Given the description of an element on the screen output the (x, y) to click on. 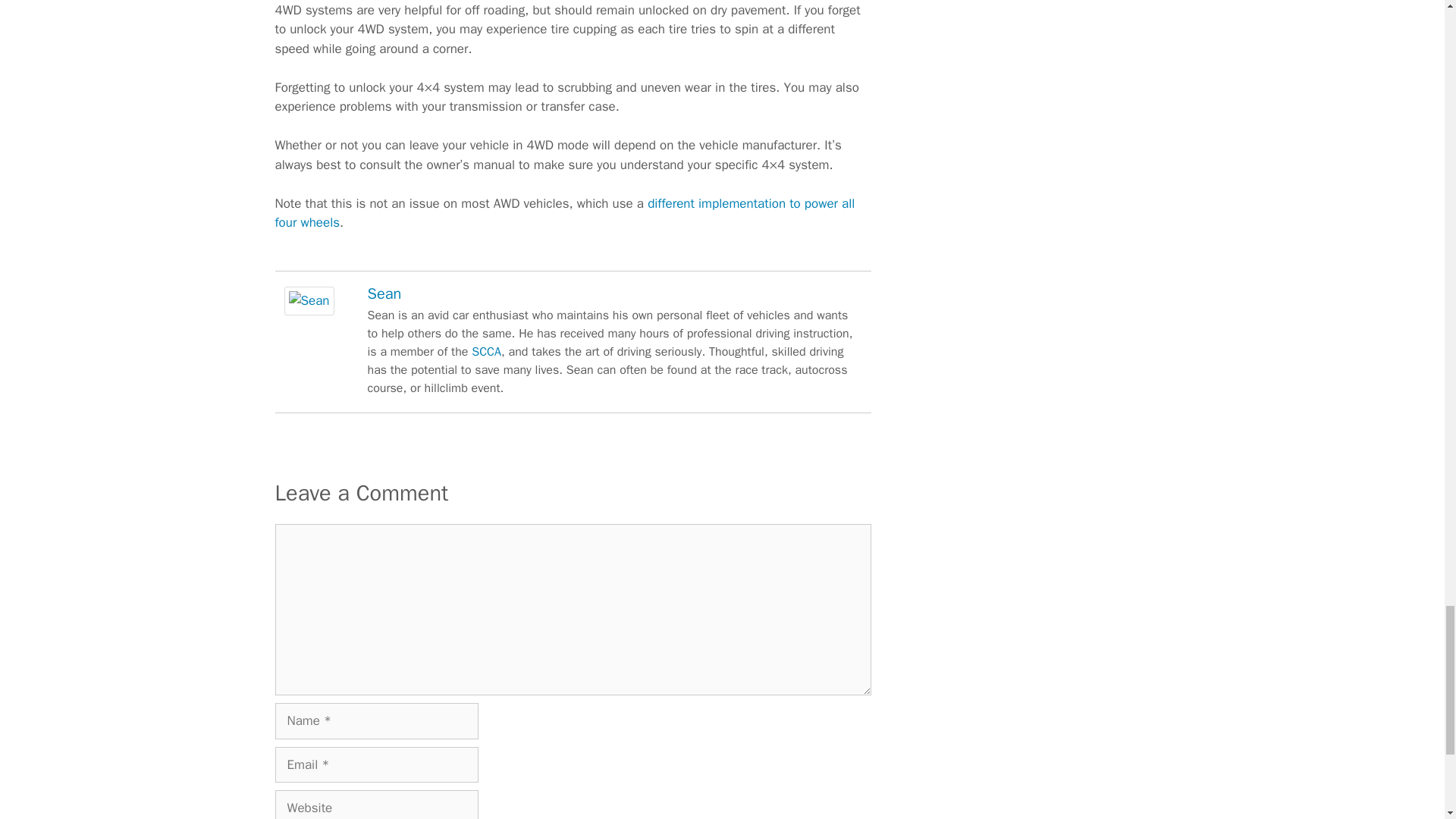
Sean (308, 311)
different implementation to power all four wheels (564, 212)
